Given the description of an element on the screen output the (x, y) to click on. 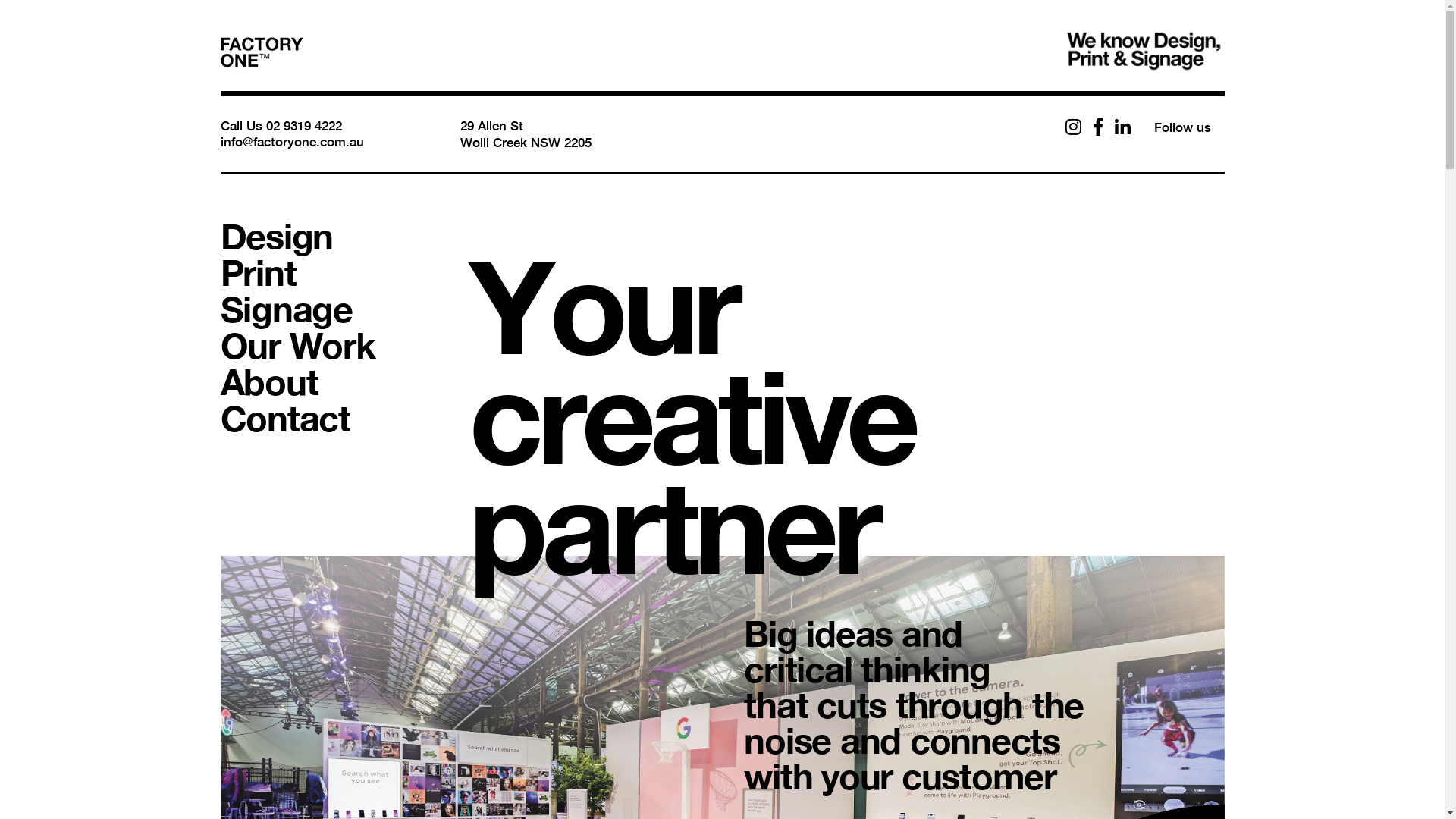
Interior Signage Element type: text (572, 661)
Decals & Vinyl Cut
Lettering Element type: text (1222, 655)
About Element type: text (268, 381)
Corflute Signs Element type: text (767, 655)
Labels & Stickers Element type: text (533, 539)
Stickers, Decals
& Cut Vinyl Element type: text (944, 655)
Signage Element type: text (285, 308)
Banners & Fencemesh Element type: text (799, 655)
Packaging
(Coming Soon) Element type: text (1185, 539)
Murals, Traditional
& Custom Element type: text (968, 655)
info@factoryone.com.au Element type: text (291, 141)
Partial Vehicle
Wraps Element type: text (1165, 655)
Illuminated &
Lightbox Signs Element type: text (925, 655)
Custom Signage Element type: text (531, 655)
Vehicle Magnets
(Coming Soon) Element type: text (1229, 655)
Design Element type: text (275, 235)
Print Element type: text (257, 272)
Half & 3/4
Vehicle Wraps Element type: text (1145, 655)
Full Vehicle Wraps Element type: text (1047, 655)
Flags, Pull-ups
& Aframes Element type: text (930, 655)
Display Systems Element type: text (530, 655)
Glass Frosting Element type: text (523, 655)
Acrylic Signage Element type: text (527, 655)
Mounted Posters
& Panels Element type: text (706, 655)
Books & Magazines Element type: text (809, 539)
One Way Vision Element type: text (1037, 655)
Booklets & Brochures Element type: text (551, 539)
Manufactured
Building Signs Element type: text (936, 655)
Call Us 02 9319 4222 Element type: text (280, 125)
Stationery Packs Element type: text (532, 539)
Stickers, Decals &
Cut Vinyl Element type: text (714, 655)
Flyers & Mailcards Element type: text (803, 539)
Neon Signage Element type: text (522, 655)
Outdoor Signage Element type: text (824, 661)
3D Signs -
Acrylic, Neon, Metal Element type: text (911, 655)
Awning &
Fascia Signs Element type: text (877, 655)
Presentation Folders Element type: text (813, 539)
Our Work Element type: text (296, 344)
Lightboxes
& Lightbox Skins Element type: text (662, 655)
Flags, Pull-ups
& Aframes Element type: text (685, 655)
Contact Element type: text (284, 417)
Signboards
& Billboards Element type: text (896, 655)
Posters Element type: text (1029, 539)
Custom Print
(Coming Soon) Element type: text (1214, 539)
Custom Printed Wallpaper Element type: text (568, 655)
Vehicle Signage Element type: text (1082, 661)
